Given the description of an element on the screen output the (x, y) to click on. 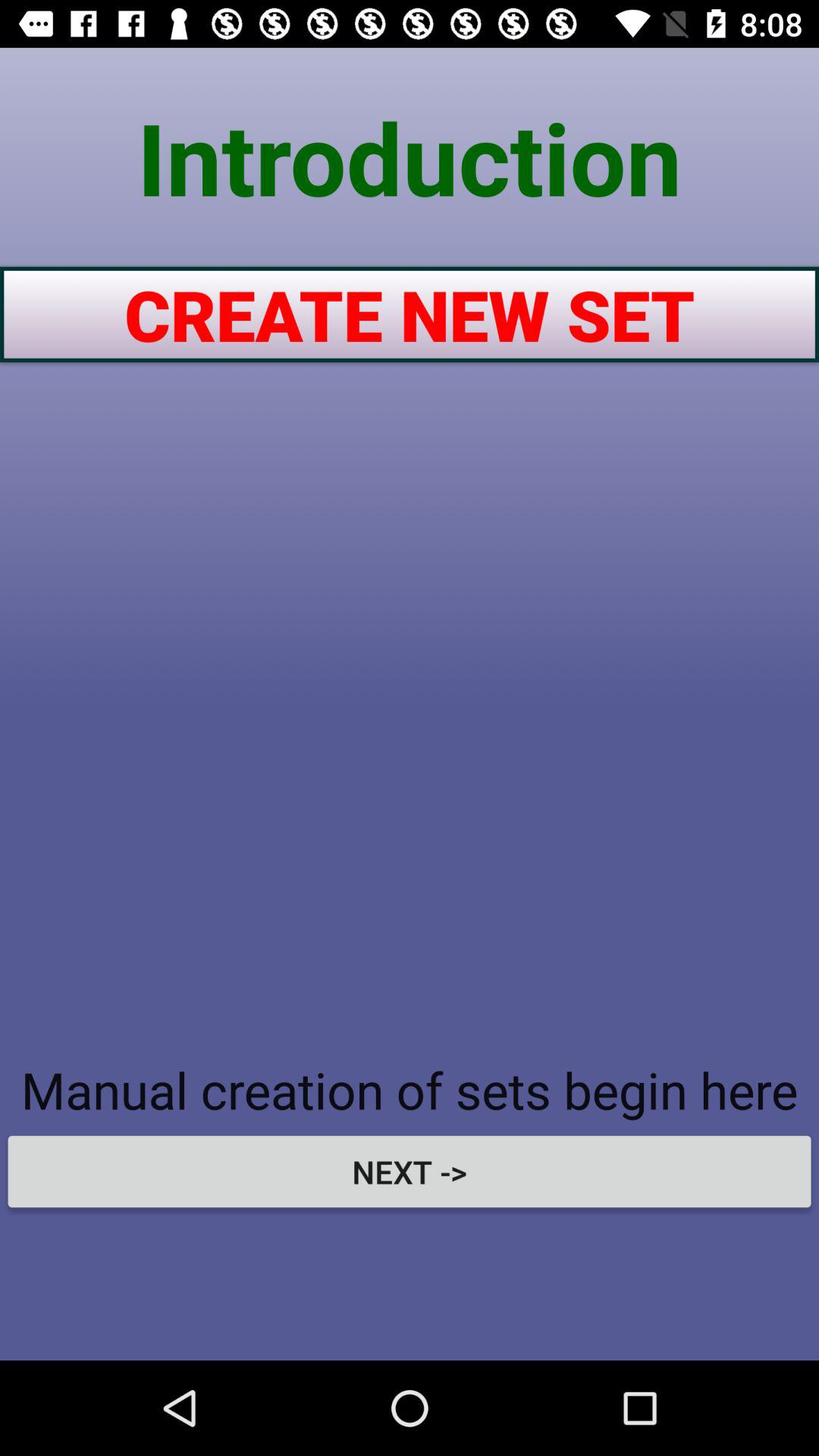
select the next -> item (409, 1171)
